Given the description of an element on the screen output the (x, y) to click on. 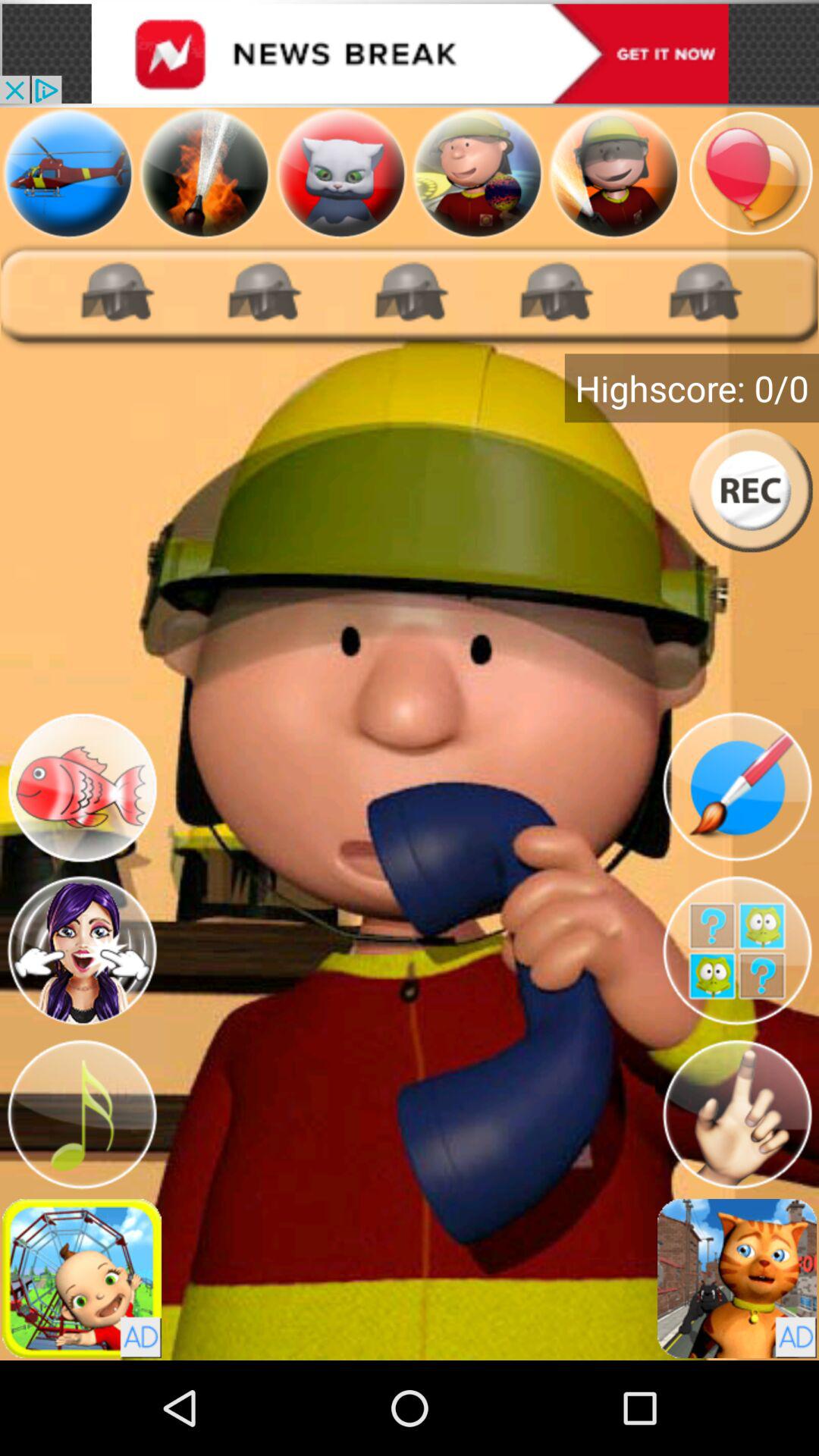
visit advertiser (409, 53)
